Given the description of an element on the screen output the (x, y) to click on. 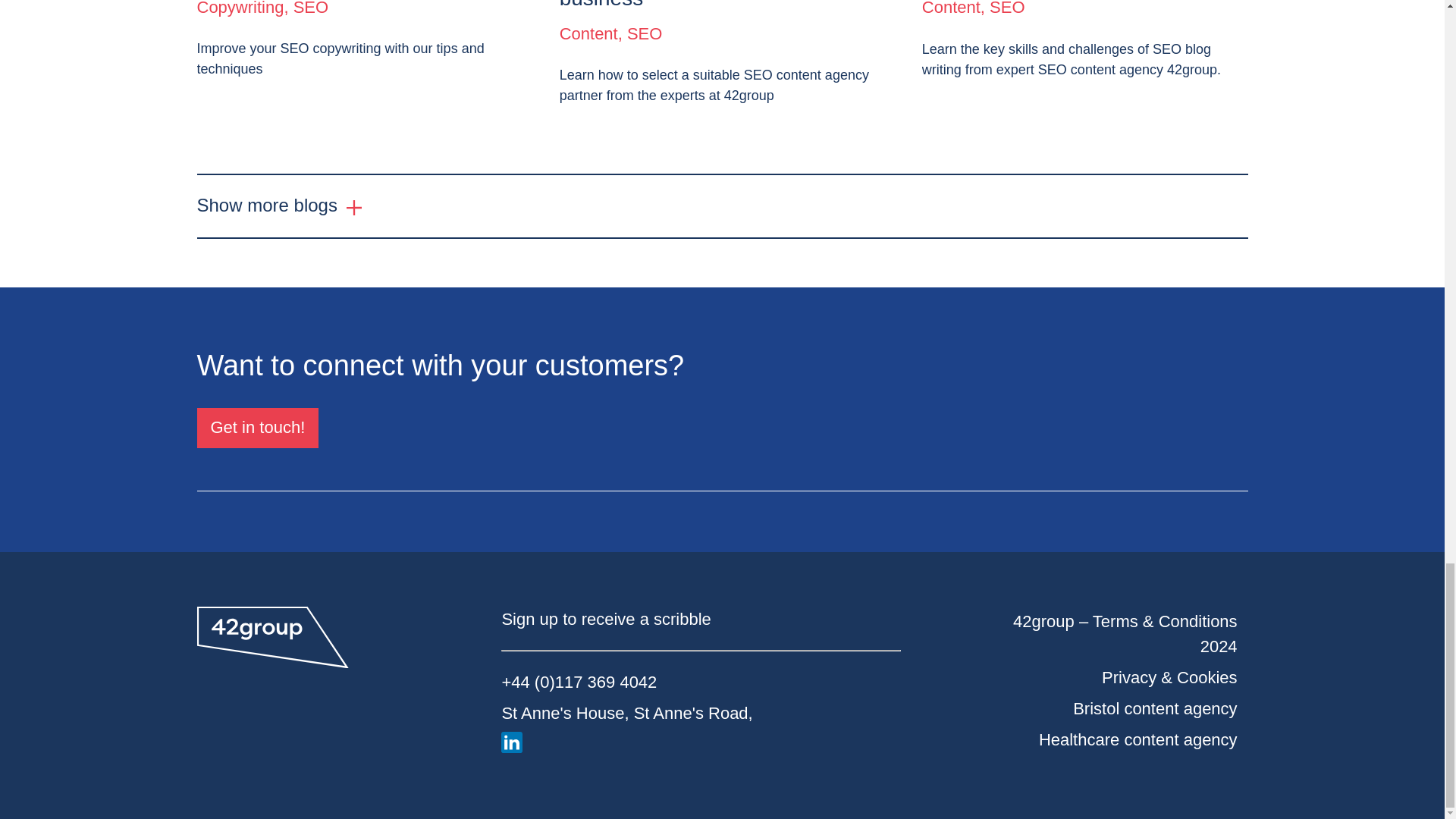
Bristol content agency (1154, 709)
Get in touch! (257, 427)
Sign up to receive a scribble (605, 619)
Show more blogs (278, 205)
Selecting the best SEO content agency for your business (722, 5)
Healthcare content agency (1138, 740)
